Given the description of an element on the screen output the (x, y) to click on. 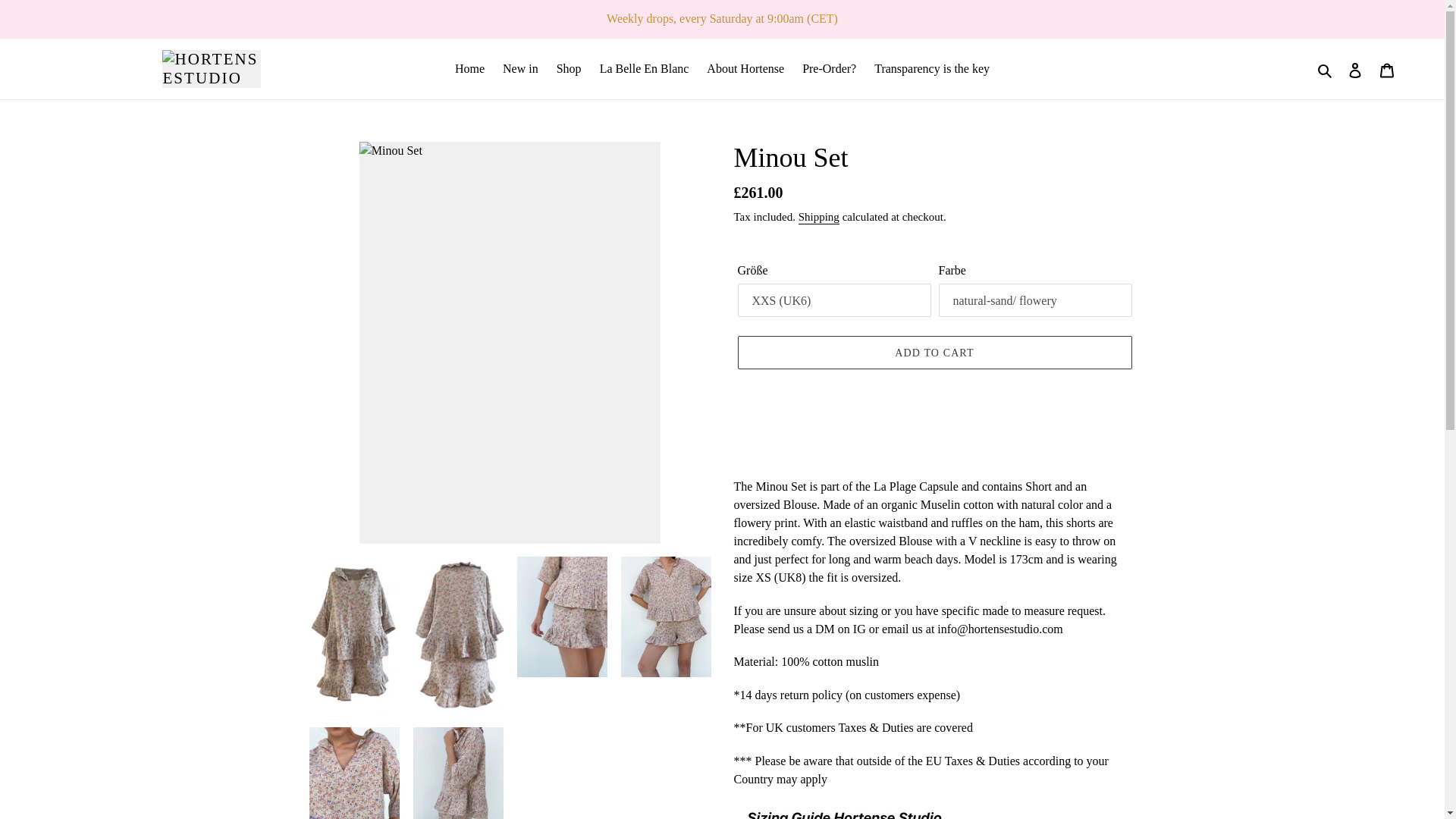
ADD TO CART (933, 352)
Pre-Order? (828, 68)
Log in (1355, 68)
New in (520, 68)
Transparency is the key (931, 68)
La Belle En Blanc (644, 68)
Search (1326, 68)
Shop (568, 68)
Shipping (818, 217)
Home (469, 68)
About Hortense (745, 68)
Cart (1387, 68)
